Given the description of an element on the screen output the (x, y) to click on. 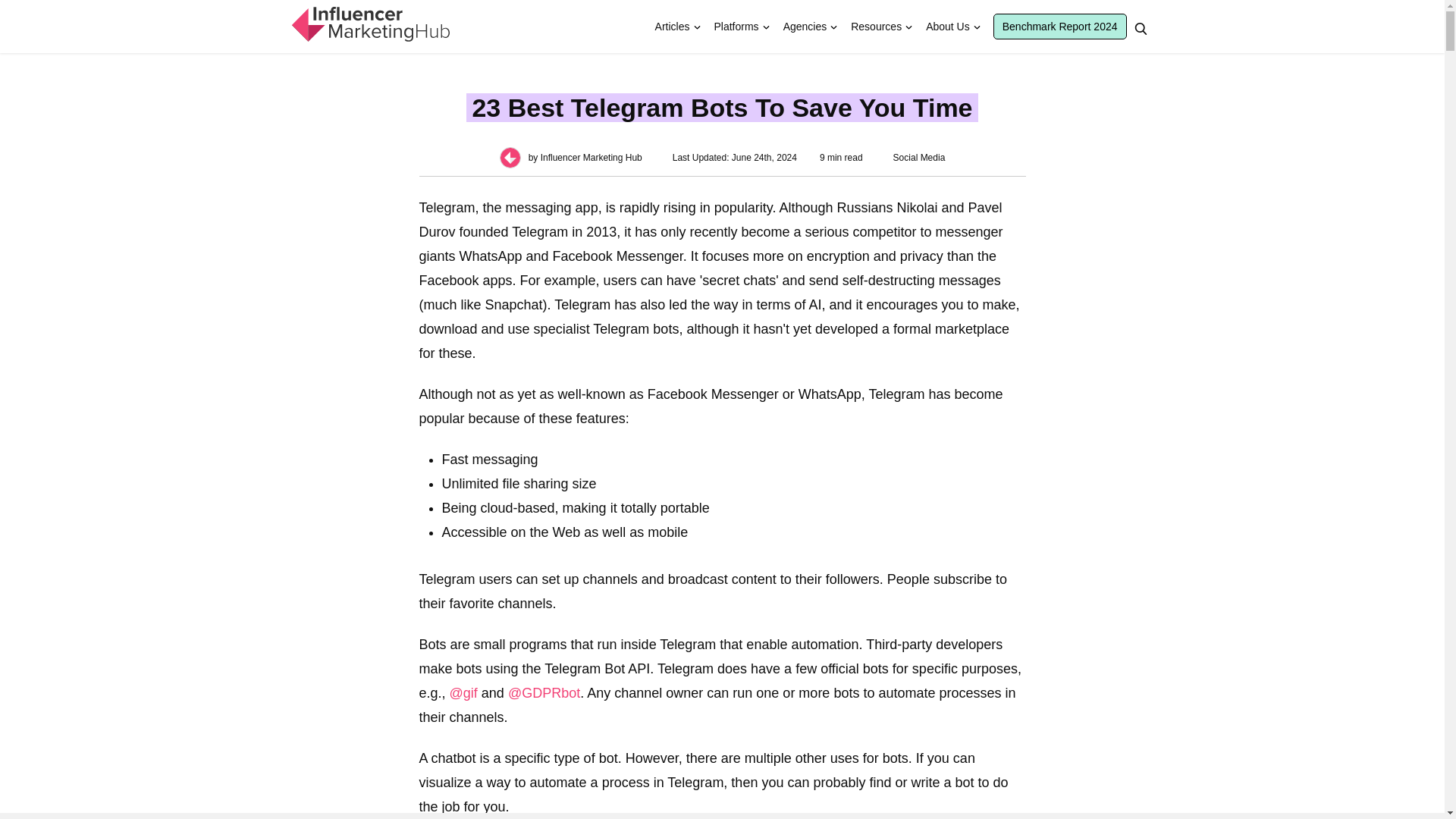
Agencies (805, 26)
Resources (876, 26)
Articles (672, 26)
Influencer Marketing Hub (368, 24)
Platforms (736, 26)
